Given the description of an element on the screen output the (x, y) to click on. 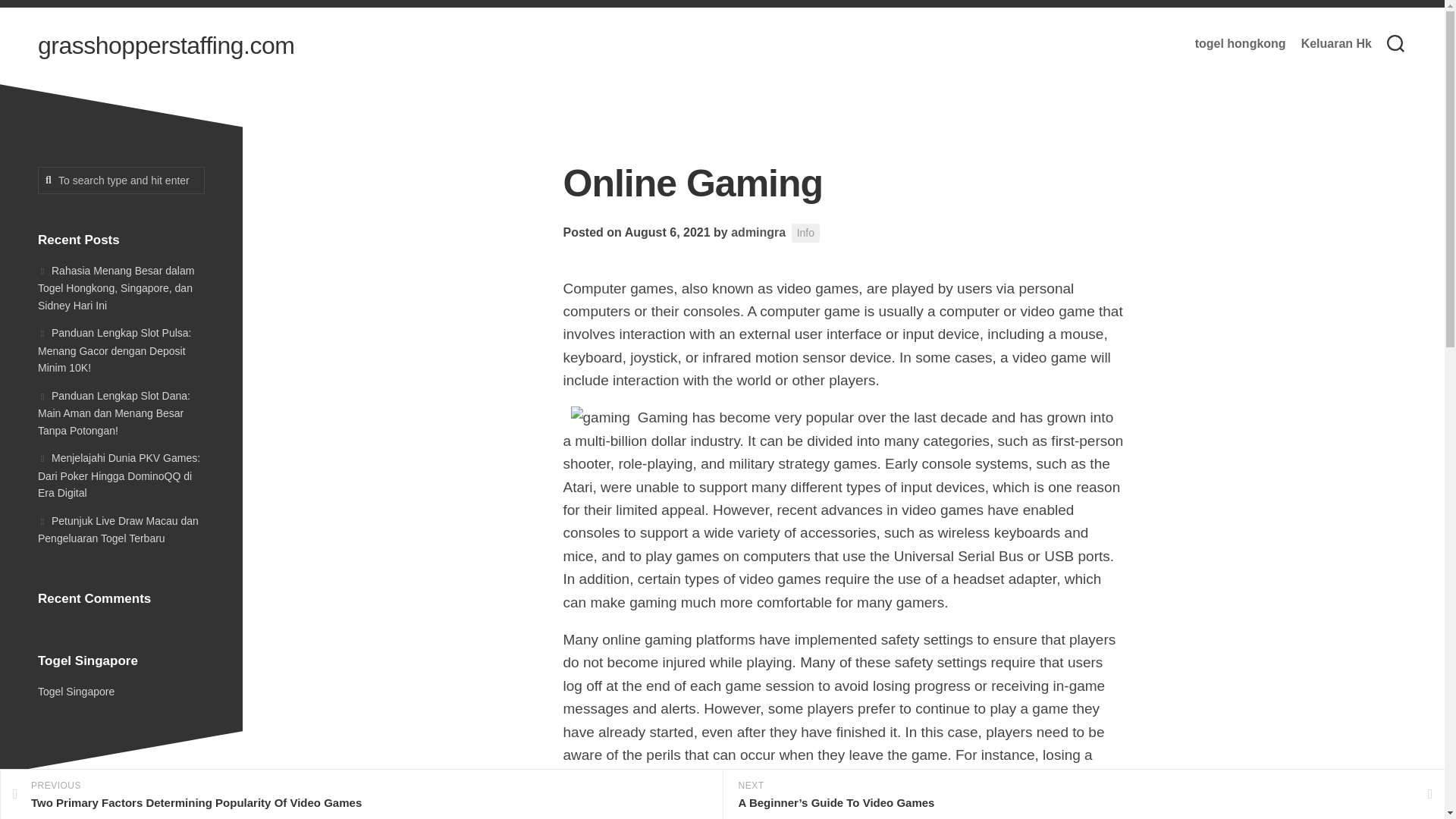
admingra (758, 232)
To search type and hit enter (121, 180)
togel hongkong (1240, 43)
Keluaran Hk (1336, 43)
grasshopperstaffing.com (165, 44)
To search type and hit enter (121, 180)
Posts by admingra (758, 232)
Petunjuk Live Draw Macau dan Pengeluaran Togel Terbaru (117, 529)
Togel Singapore (76, 691)
Info (805, 232)
